Given the description of an element on the screen output the (x, y) to click on. 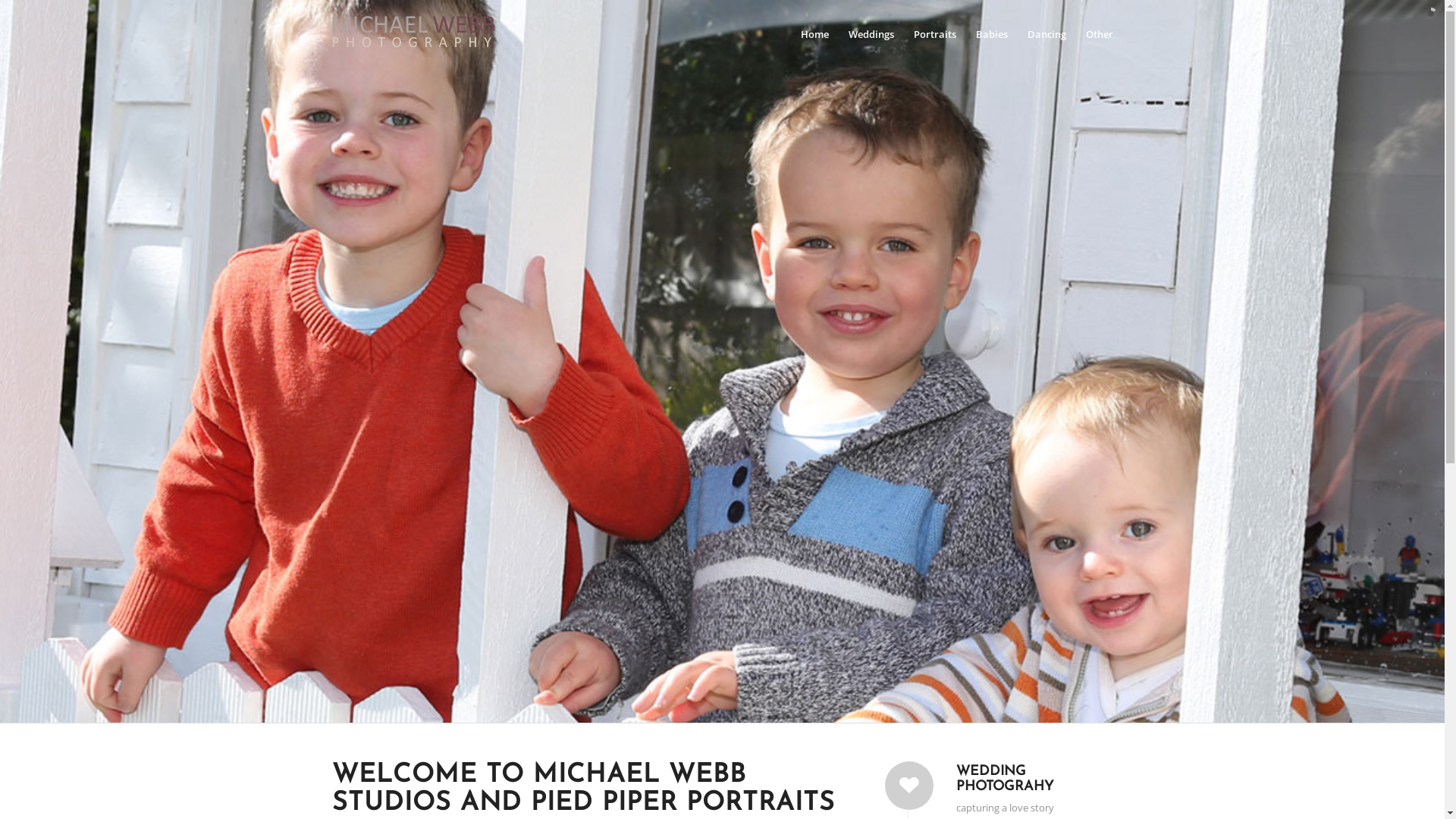
Dancing Element type: text (1046, 33)
Babies Element type: text (991, 33)
WEDDING PHOTOGRAHY Element type: text (1004, 778)
Home Element type: text (813, 33)
Portraits Element type: text (934, 33)
Other Element type: text (1093, 33)
Weddings Element type: text (870, 33)
